Given the description of an element on the screen output the (x, y) to click on. 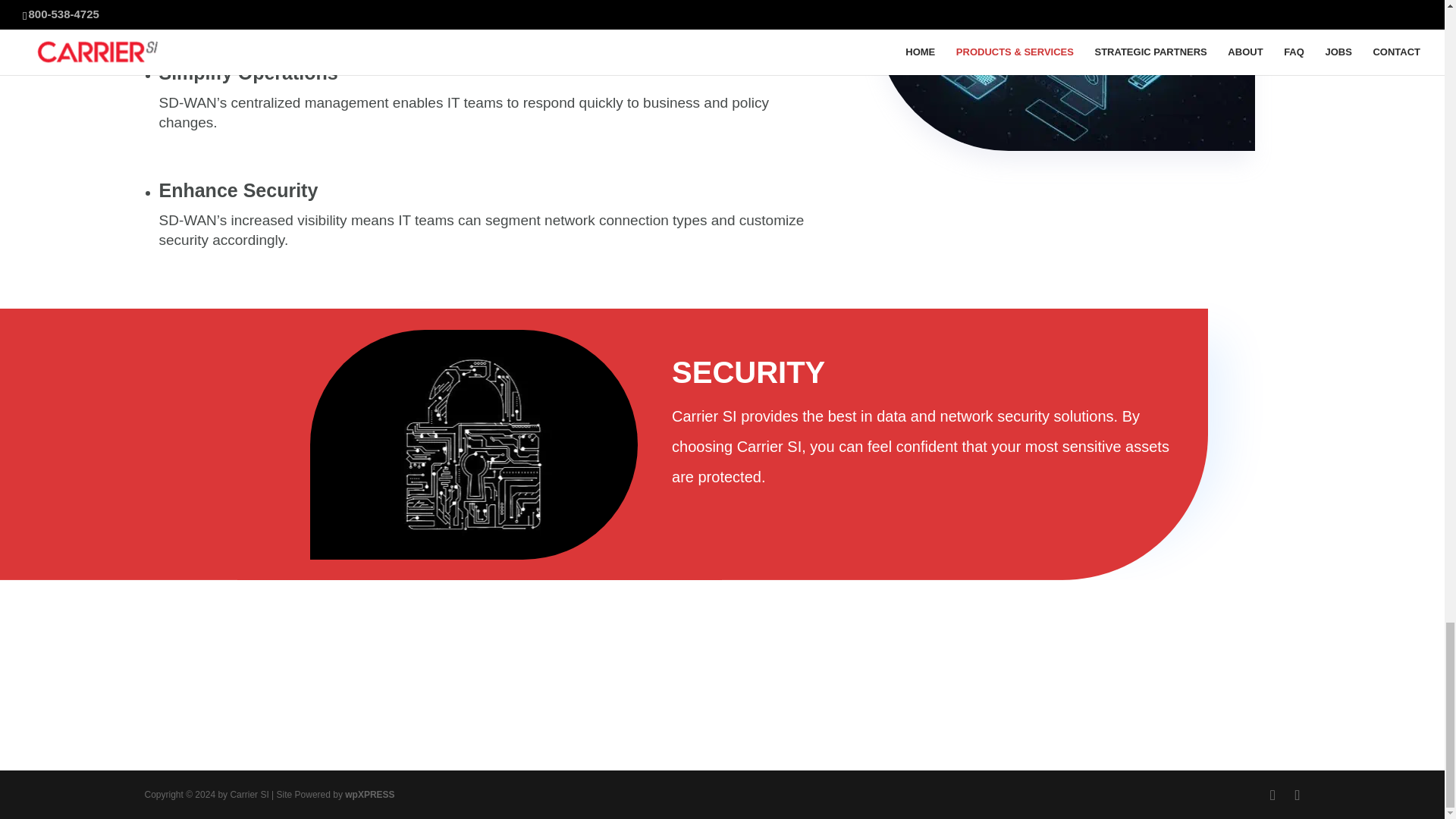
Network (1065, 75)
wpXPRESS (369, 794)
